Given the description of an element on the screen output the (x, y) to click on. 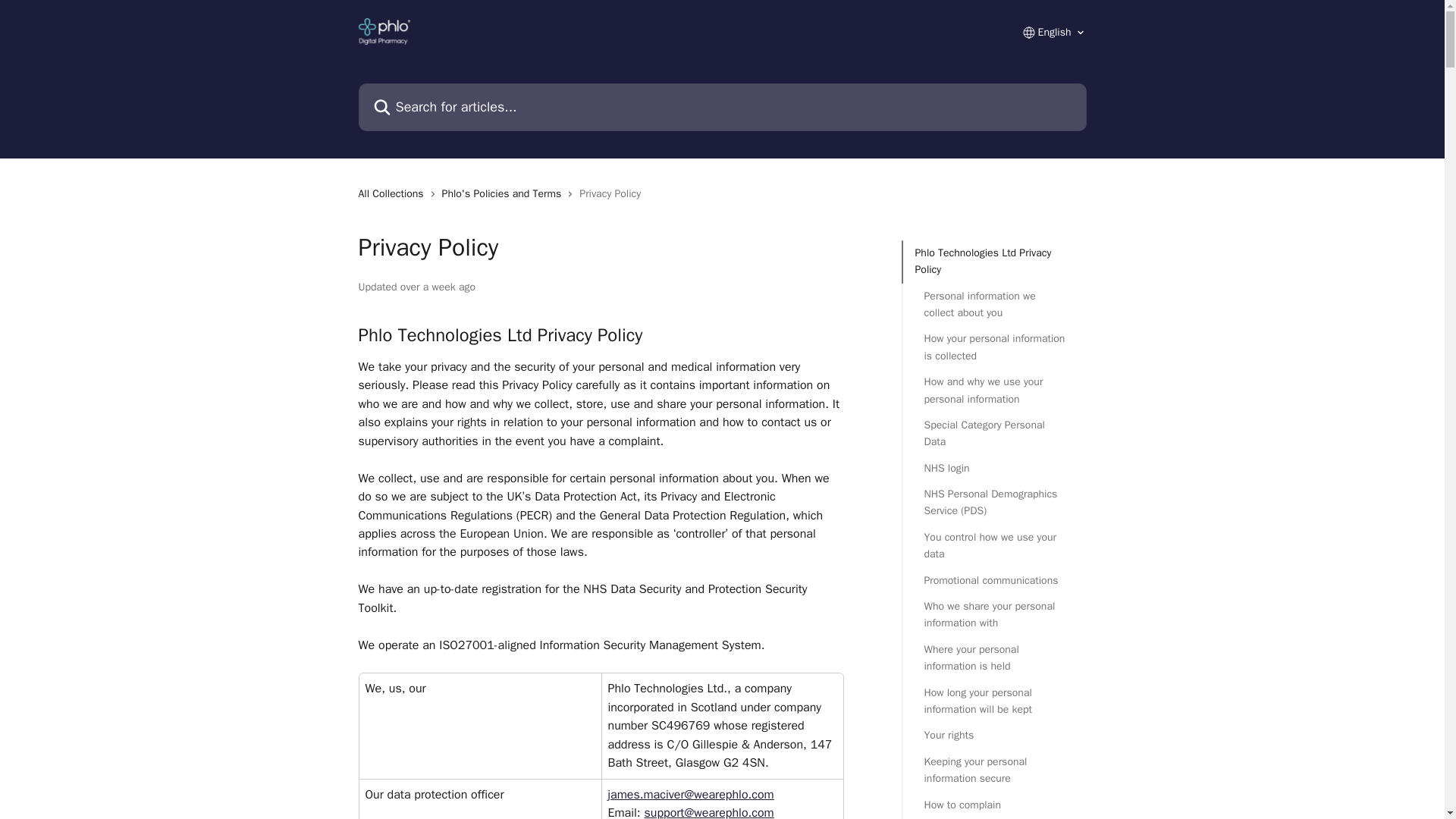
Phlo Technologies Ltd Privacy Policy  (994, 261)
How and why we use your personal information   (993, 390)
How to complain   (993, 805)
Who we share your personal information with (993, 615)
Phlo's Policies and Terms (504, 193)
Personal information we collect about you   (993, 305)
How your personal information is collected   (993, 347)
All Collections (393, 193)
NHS login   (993, 468)
How long your personal information will be kept   (993, 701)
Special Category Personal Data (993, 433)
Where your personal information is held   (993, 658)
Keeping your personal information secure   (993, 770)
You control how we use your data (993, 546)
Your rights   (993, 735)
